Given the description of an element on the screen output the (x, y) to click on. 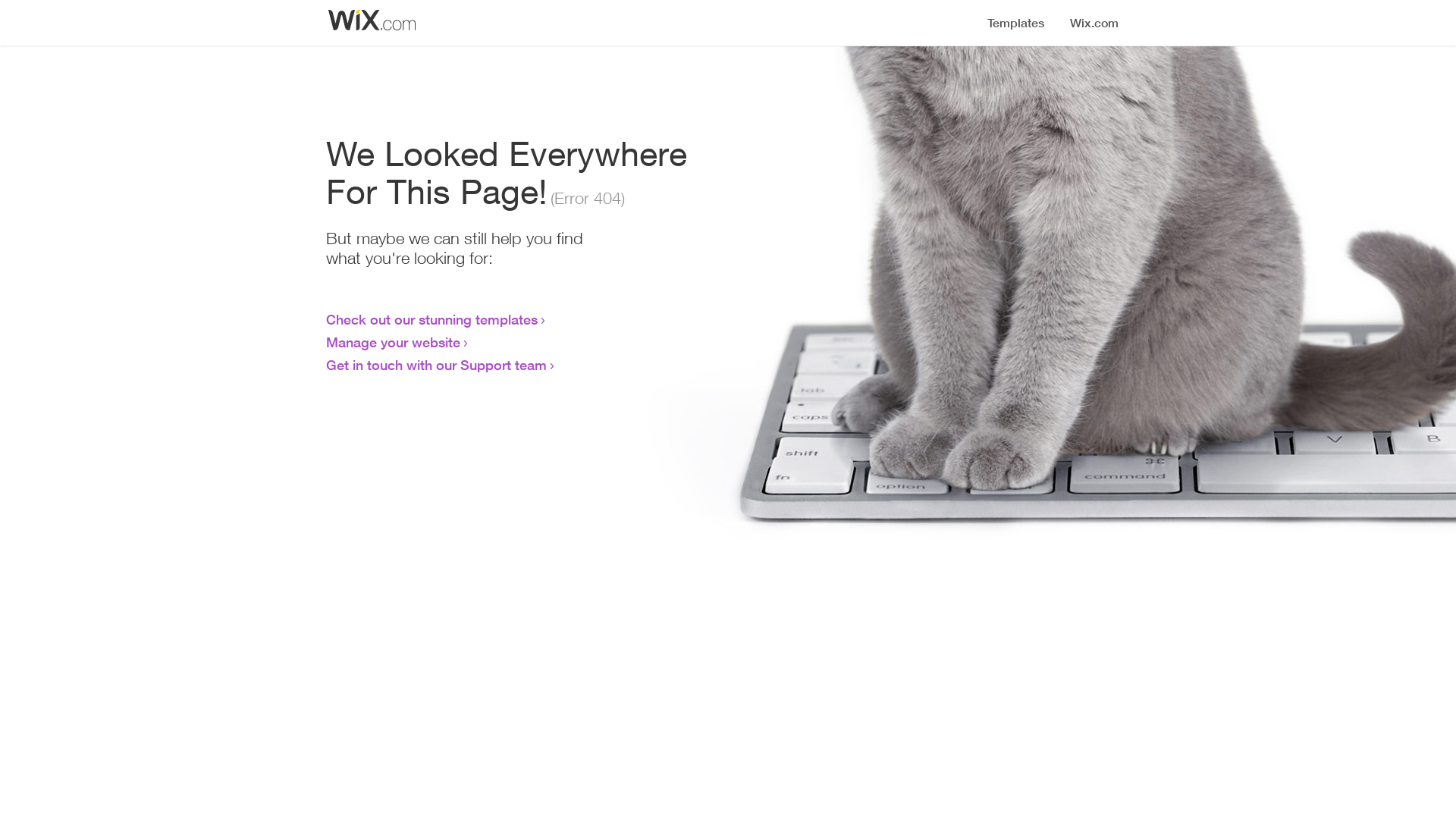
Get in touch with our Support team Element type: text (436, 364)
Check out our stunning templates Element type: text (431, 318)
Manage your website Element type: text (393, 341)
